Given the description of an element on the screen output the (x, y) to click on. 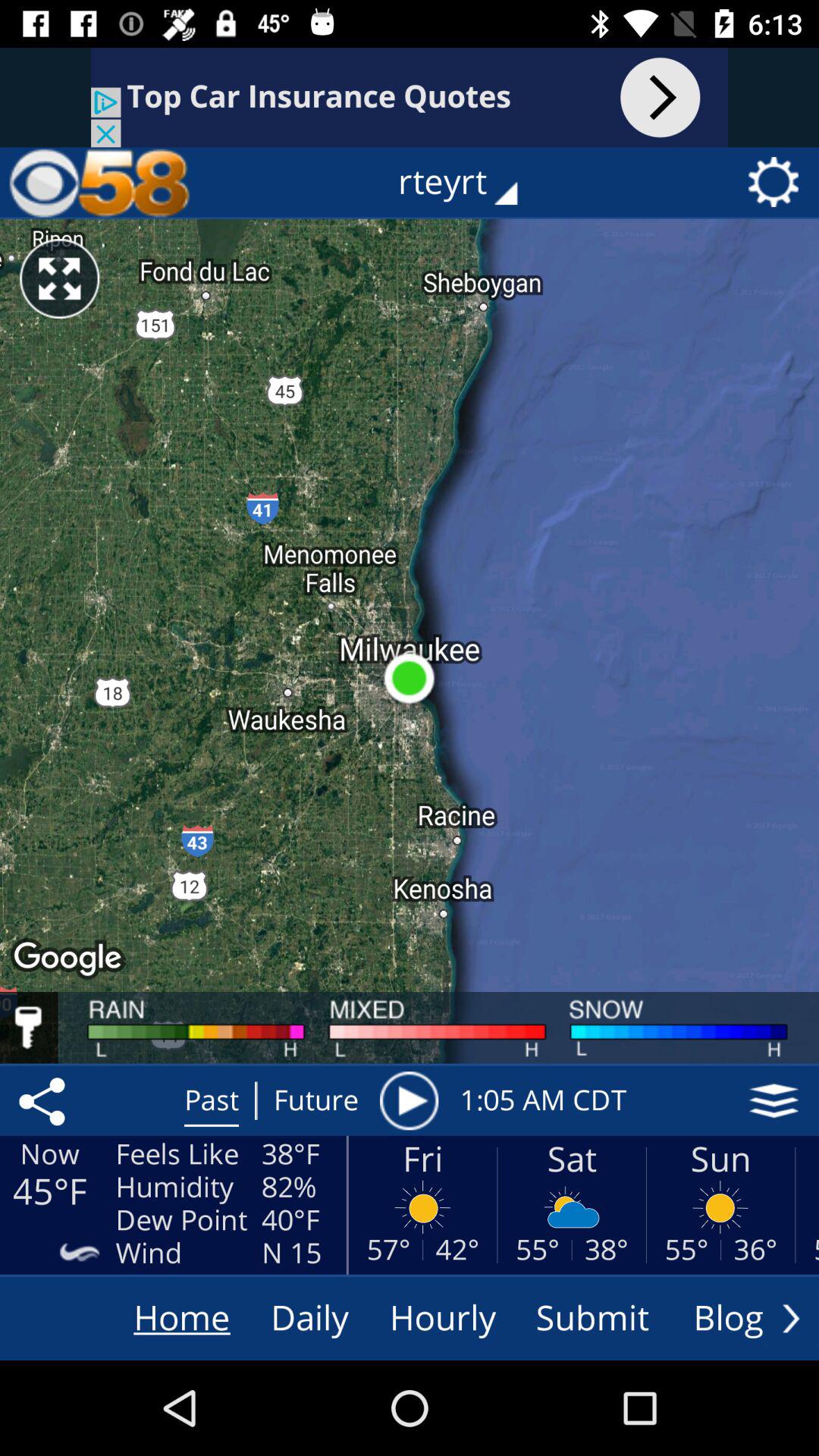
select icon next to the 1 05 am (774, 1100)
